Given the description of an element on the screen output the (x, y) to click on. 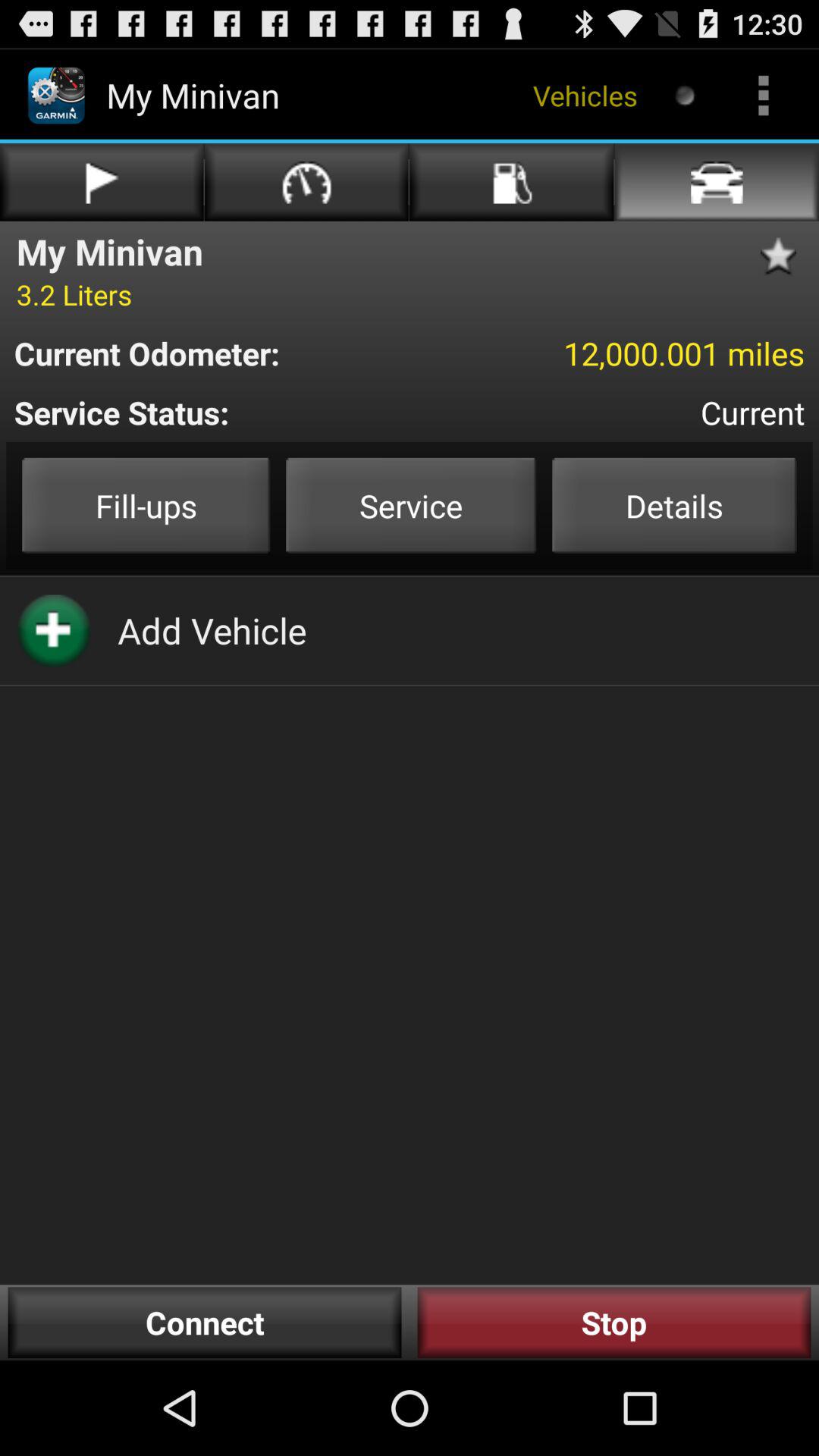
turn on the button next to the connect button (614, 1322)
